Given the description of an element on the screen output the (x, y) to click on. 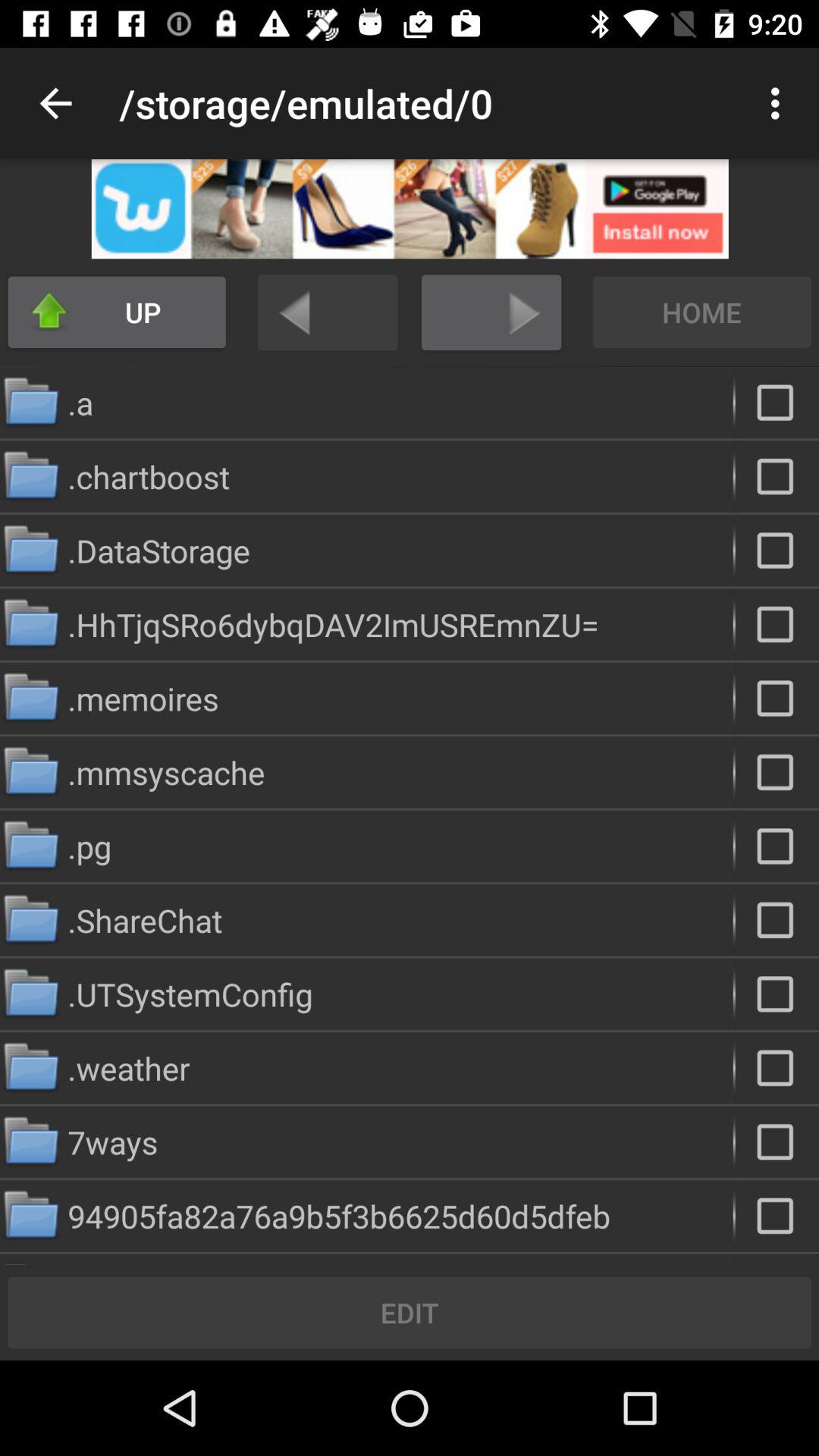
to select (777, 1067)
